Given the description of an element on the screen output the (x, y) to click on. 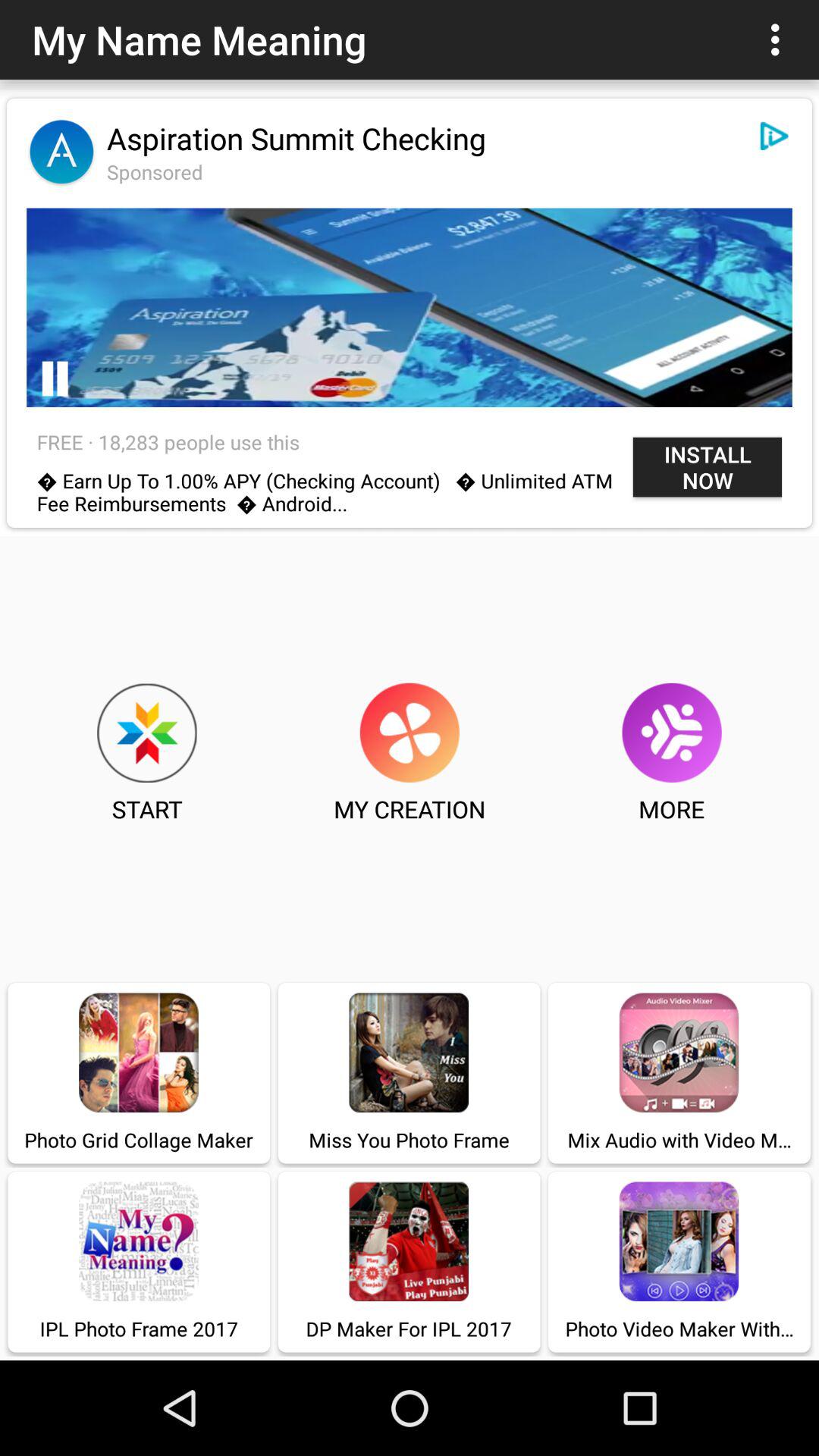
tap the item to the right of free 18 283 item (707, 467)
